Given the description of an element on the screen output the (x, y) to click on. 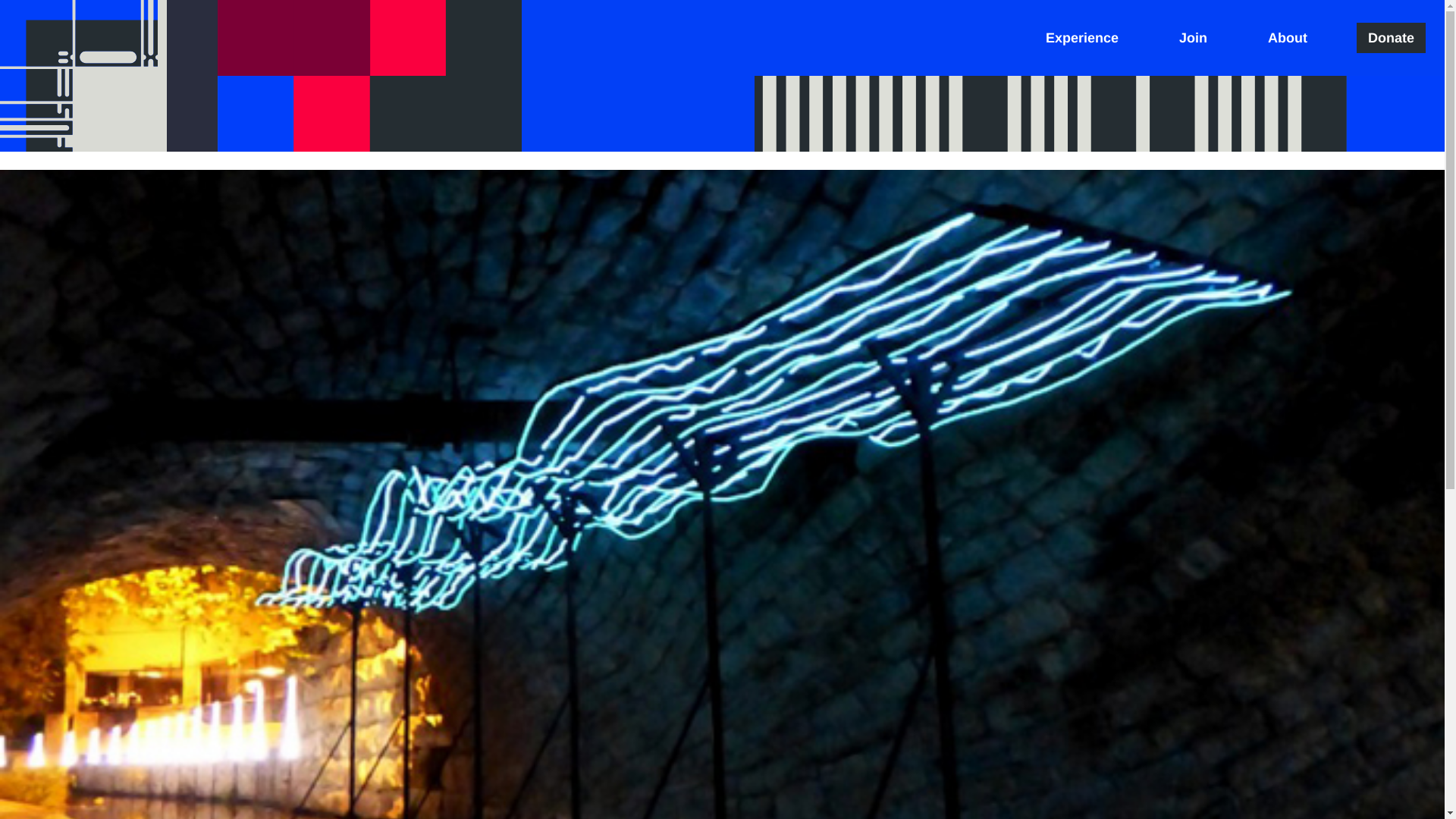
Join (1192, 37)
About (1287, 37)
Fusebox (83, 75)
Donate (1390, 37)
Fusebox (83, 75)
Experience (1081, 37)
